Given the description of an element on the screen output the (x, y) to click on. 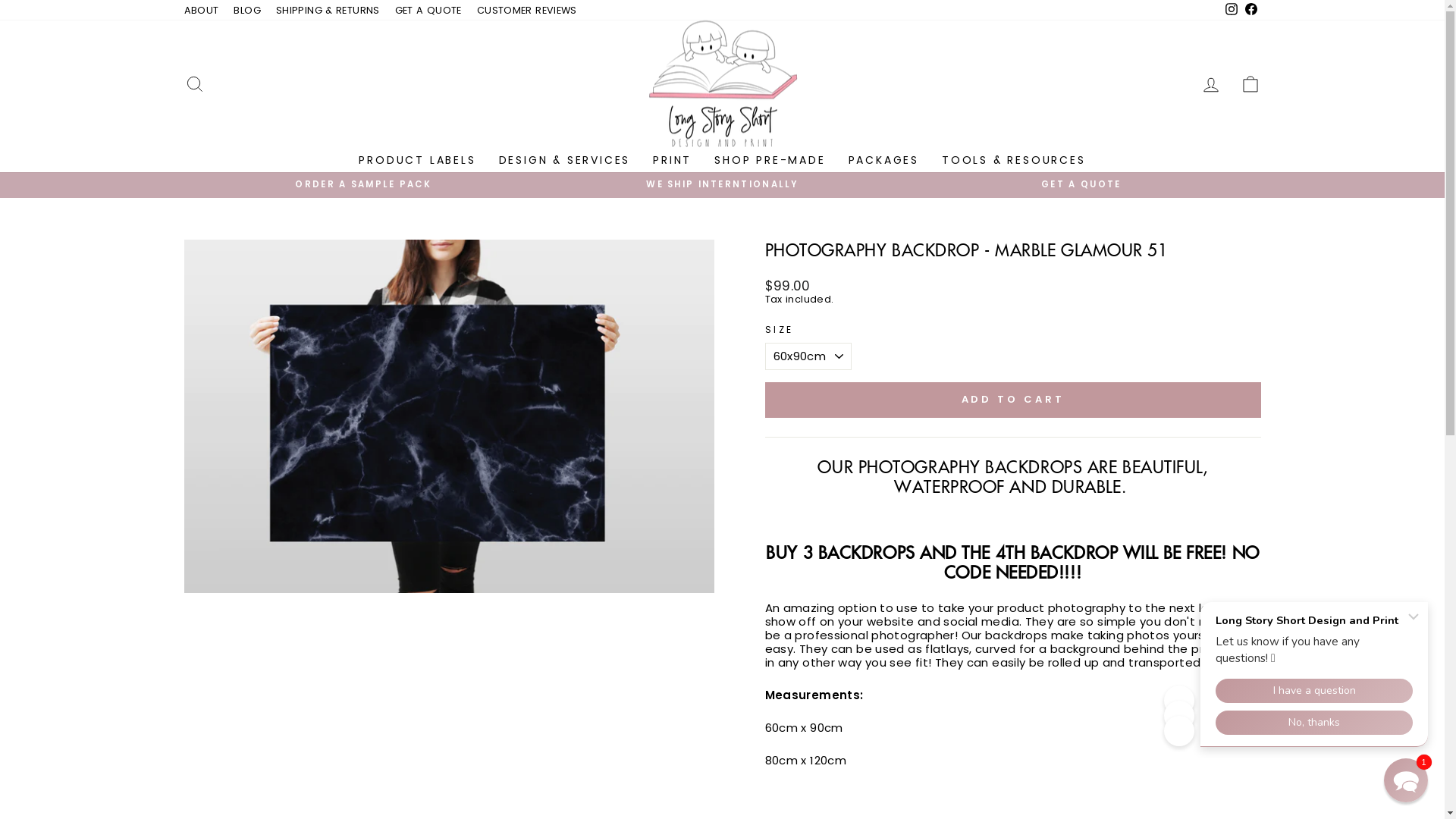
PACKAGES Element type: text (883, 159)
TOOLS & RESOURCES Element type: text (1013, 159)
SEARCH Element type: text (193, 83)
WE SHIP INTERNTIONALLY Element type: text (721, 184)
PRODUCT LABELS Element type: text (416, 159)
GET A QUOTE Element type: text (1080, 184)
BLOG Element type: text (246, 9)
Re:amaze Chat Element type: hover (1298, 670)
ABOUT Element type: text (200, 9)
SHOP PRE-MADE Element type: text (769, 159)
Instagram Element type: text (1230, 10)
ORDER A SAMPLE PACK Element type: text (363, 184)
LOG IN Element type: text (1210, 83)
ADD TO CART Element type: text (1012, 399)
CART Element type: text (1249, 83)
PRINT Element type: text (671, 159)
Skip to content Element type: text (0, 0)
GET A QUOTE Element type: text (428, 9)
CUSTOMER REVIEWS Element type: text (526, 9)
SHIPPING & RETURNS Element type: text (327, 9)
DESIGN & SERVICES Element type: text (564, 159)
Facebook Element type: text (1250, 10)
